Given the description of an element on the screen output the (x, y) to click on. 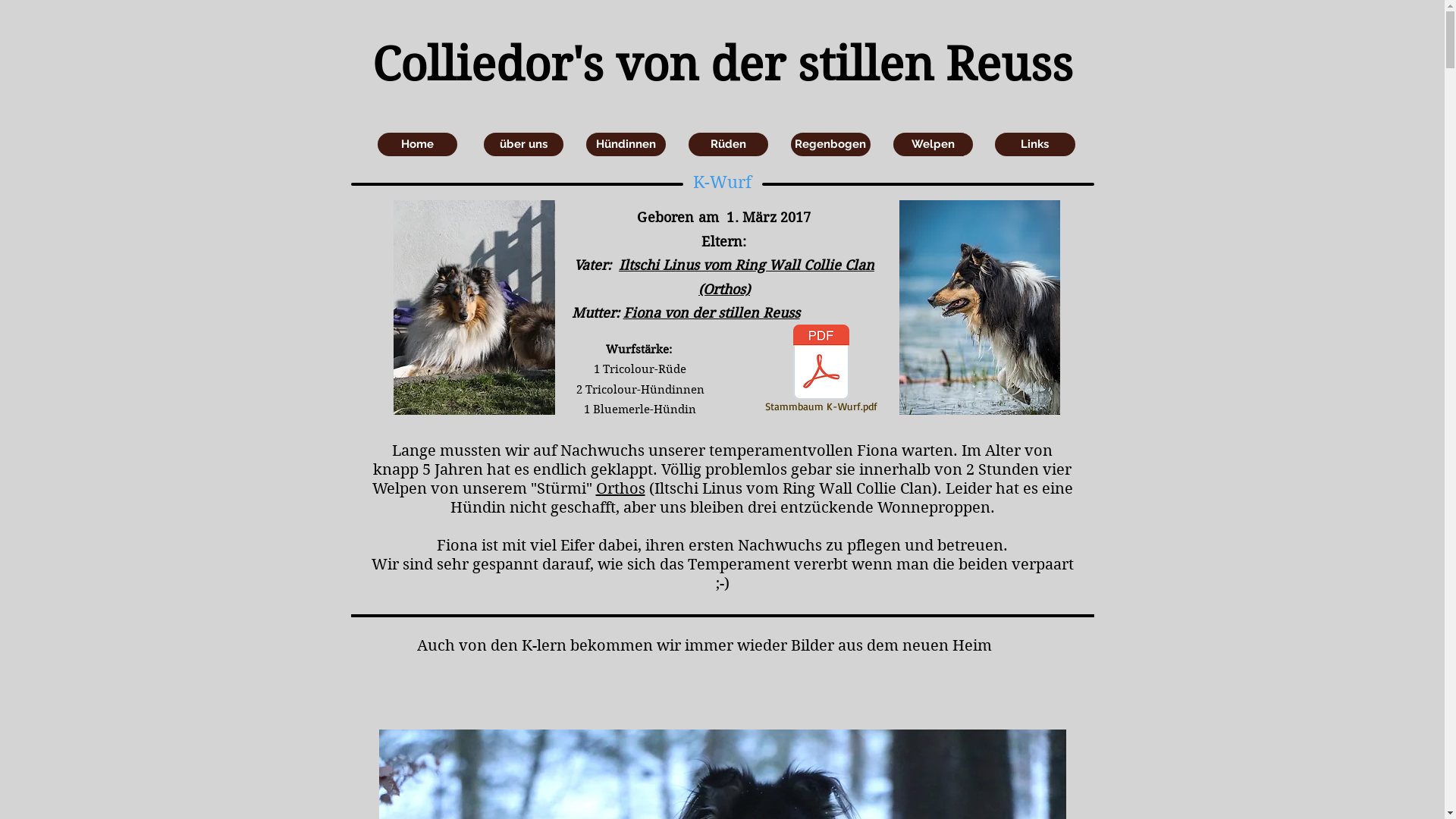
Welpen Element type: text (932, 144)
Fiona von der stillen Reuss Element type: text (711, 312)
_BMP8227.JPG Element type: hover (979, 307)
Links Element type: text (1034, 144)
IMG_1426.JPG Element type: hover (473, 307)
Iltschi Linus vom Ring Wall Collie Clan Element type: text (746, 265)
Home Element type: text (417, 144)
Orthos Element type: text (620, 488)
Stammbaum K-Wurf.pdf Element type: text (820, 370)
Regenbogen Element type: text (829, 144)
